Given the description of an element on the screen output the (x, y) to click on. 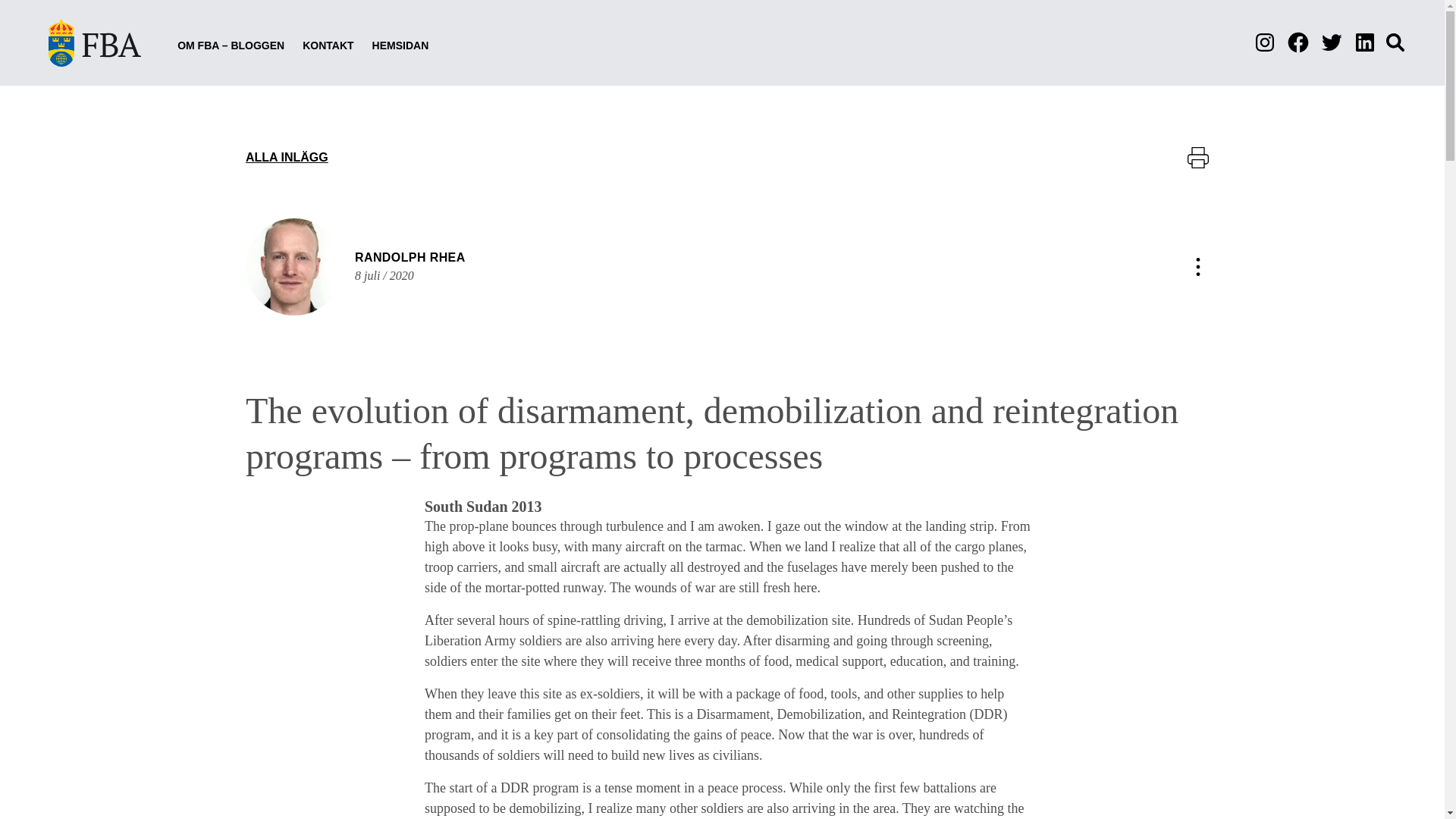
LinkedIn (1364, 42)
RANDOLPH RHEA (410, 257)
Twitter (1331, 42)
KONTAKT (327, 41)
Facebook (1297, 42)
Instagram (1264, 42)
HEMSIDAN (400, 41)
